Given the description of an element on the screen output the (x, y) to click on. 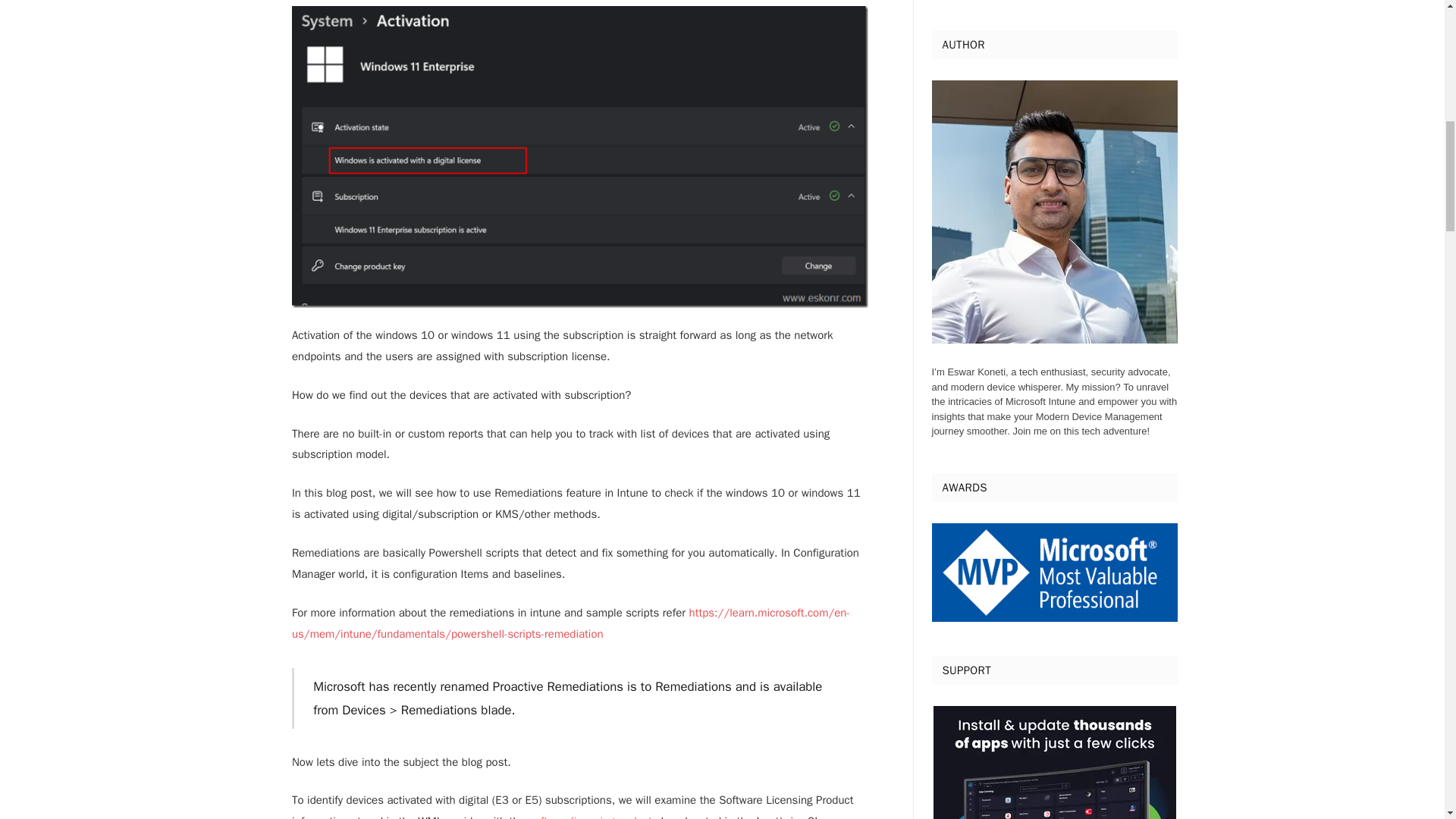
softwarelicensingproduct (590, 816)
